Given the description of an element on the screen output the (x, y) to click on. 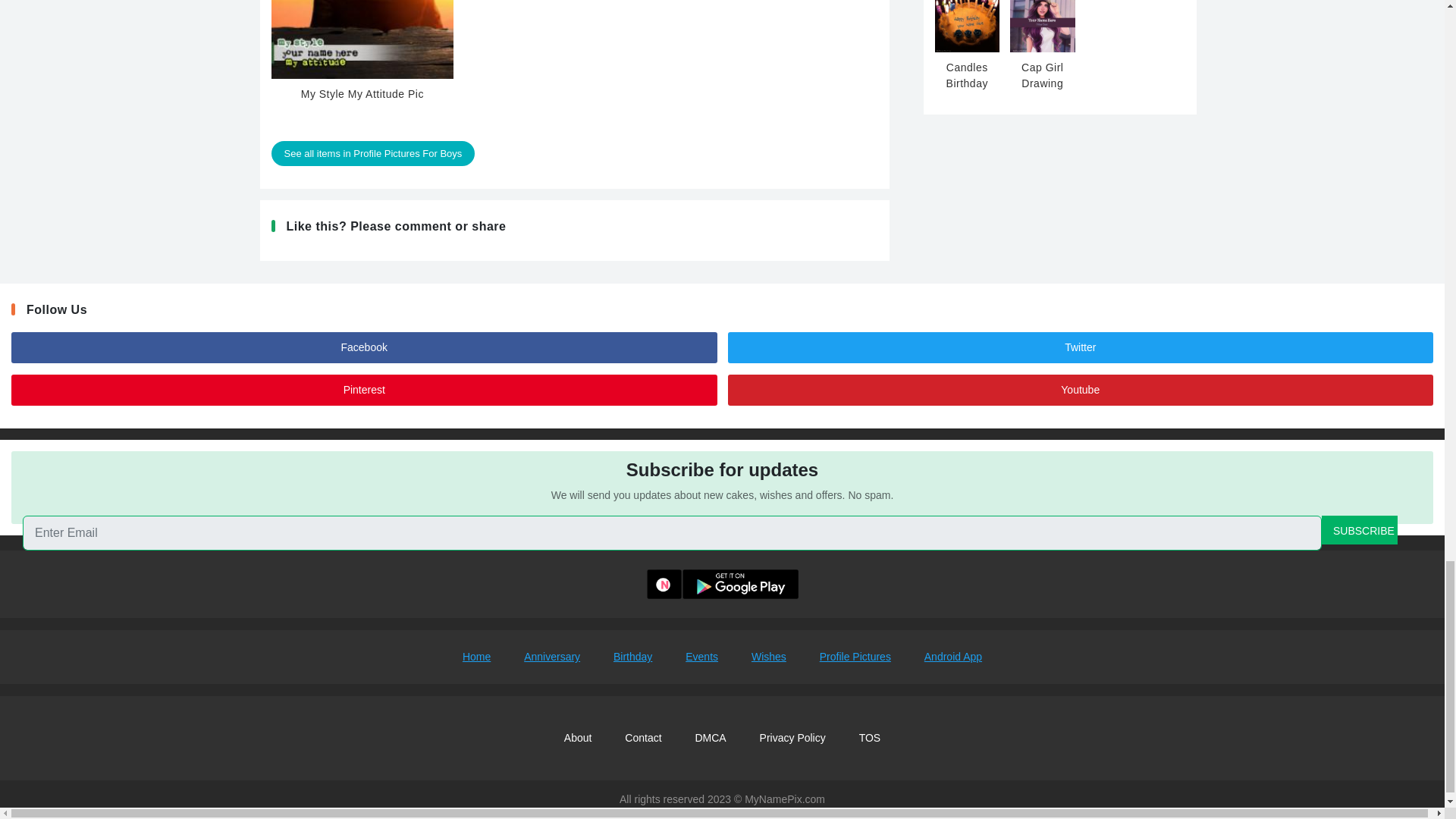
See all items in Profile Pictures For Boys (373, 153)
My Style My Attitude Pic (362, 58)
